Given the description of an element on the screen output the (x, y) to click on. 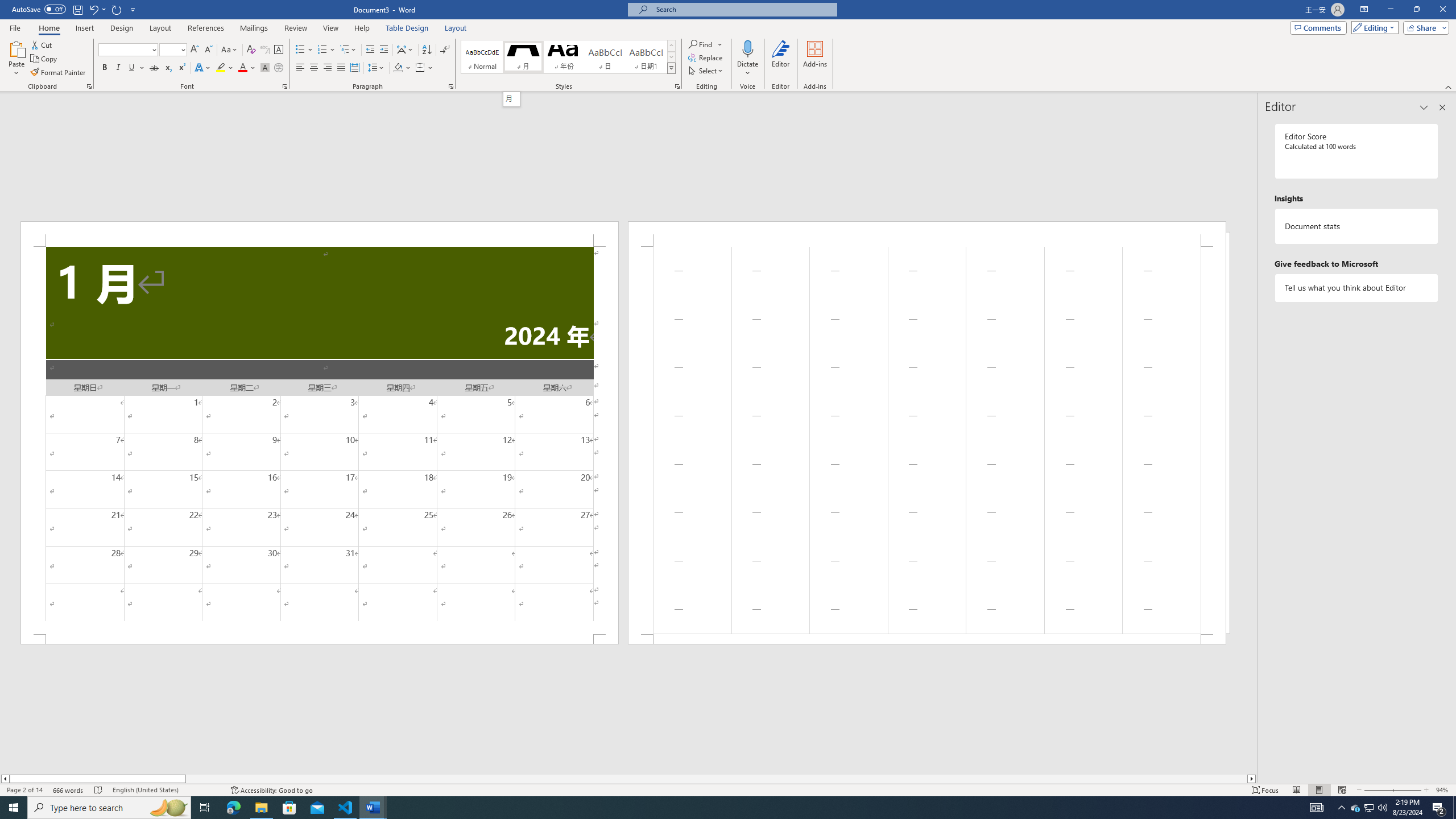
Open (182, 49)
Page Number Page 2 of 14 (24, 790)
Editor (780, 58)
Text Highlight Color Yellow (220, 67)
Increase Indent (383, 49)
Enclose Characters... (278, 67)
Office Clipboard... (88, 85)
Repeat Doc Close (117, 9)
